Given the description of an element on the screen output the (x, y) to click on. 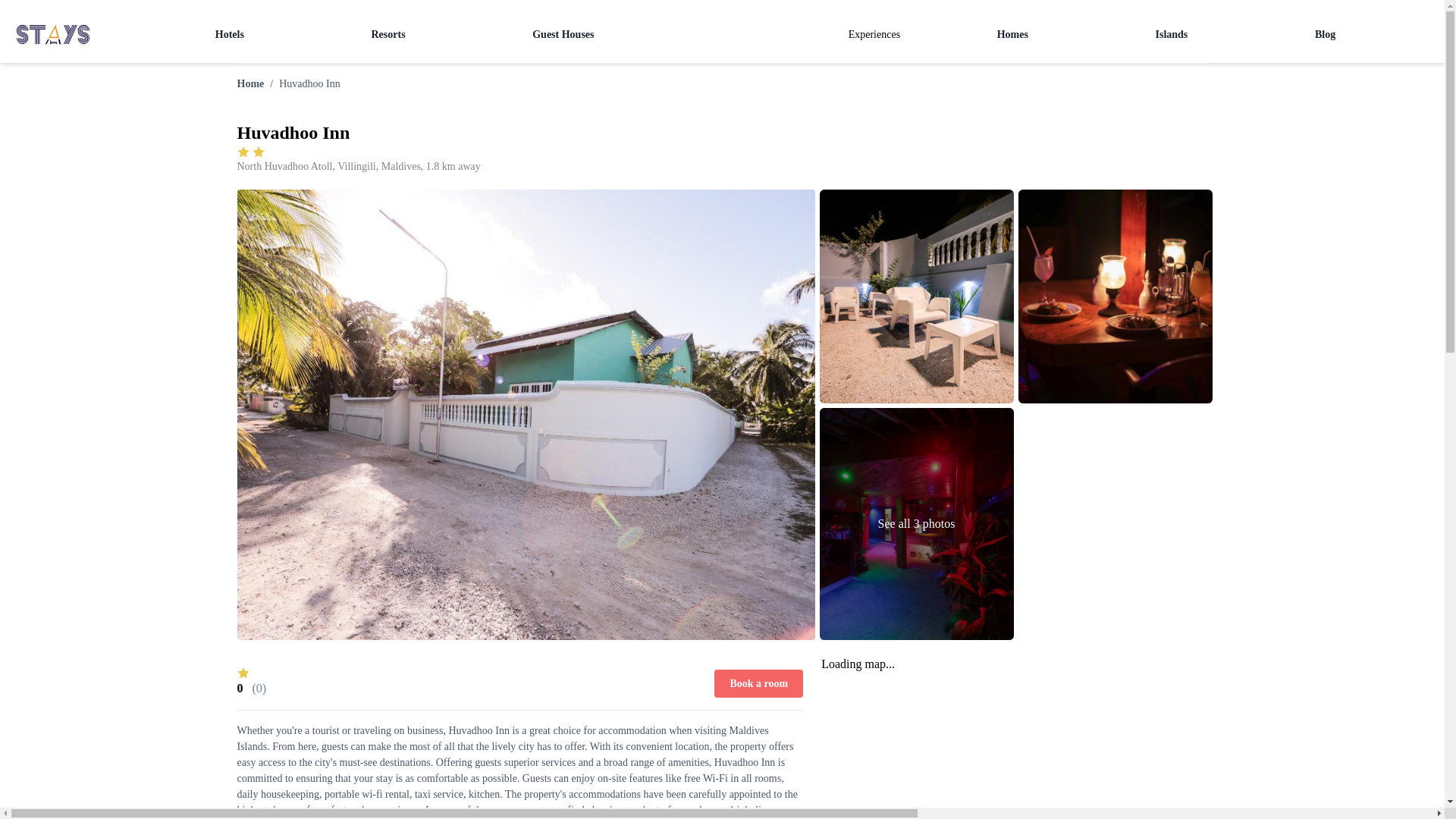
Blog (1324, 34)
Resorts (388, 34)
Hotels (229, 34)
Guest Houses (563, 34)
Experiences (873, 34)
Islands (1172, 34)
Home (249, 82)
Book a room (758, 682)
Homes (1012, 34)
Huvadhoo Inn (309, 82)
Resorts (388, 34)
maldivesh hotels (229, 34)
